Given the description of an element on the screen output the (x, y) to click on. 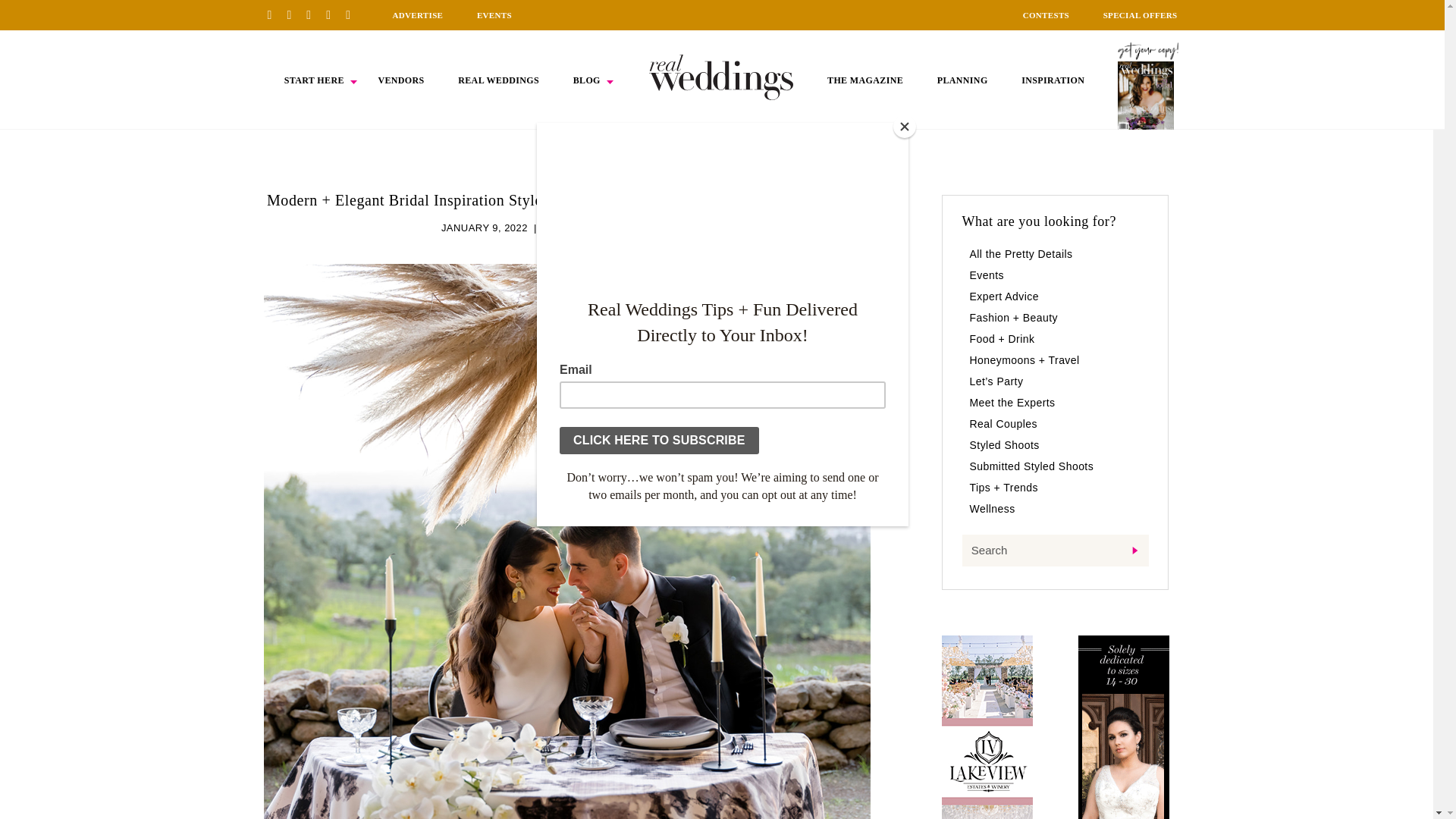
THE MAGAZINE (864, 80)
INSPIRATION (1053, 80)
Twitter (334, 14)
YouTube (353, 14)
START HERE (313, 80)
SUBMITTED STYLED SHOOTS (618, 227)
Search (1054, 550)
Search (1054, 550)
REAL WEDDINGS (498, 80)
HOME (721, 76)
Facebook (294, 14)
PLANNING (962, 80)
VENDORS (400, 80)
BLOG (586, 80)
Instagram (313, 14)
